Given the description of an element on the screen output the (x, y) to click on. 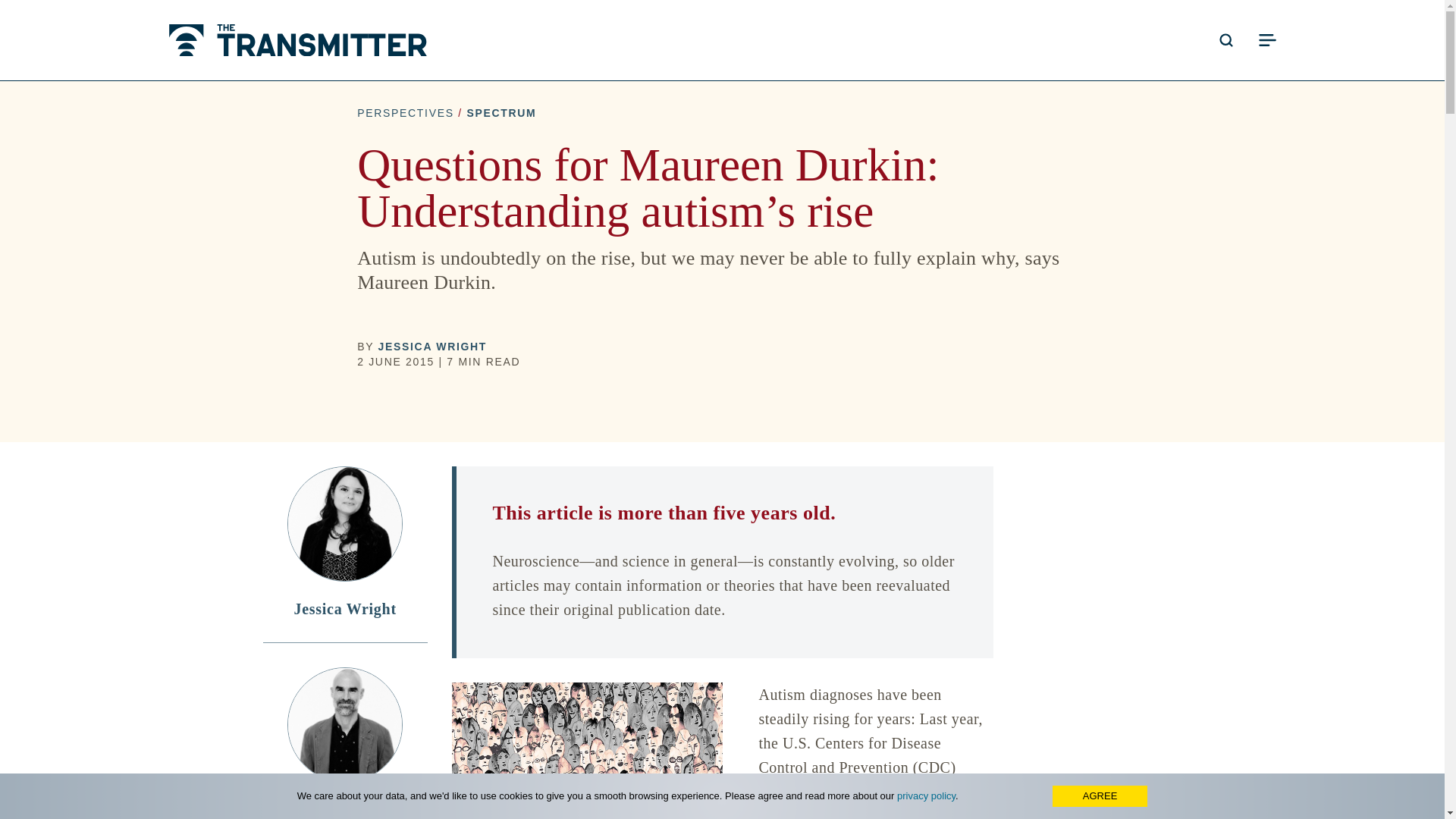
Open menu (1266, 40)
Open search form (1225, 39)
The Transmitter (297, 40)
